Given the description of an element on the screen output the (x, y) to click on. 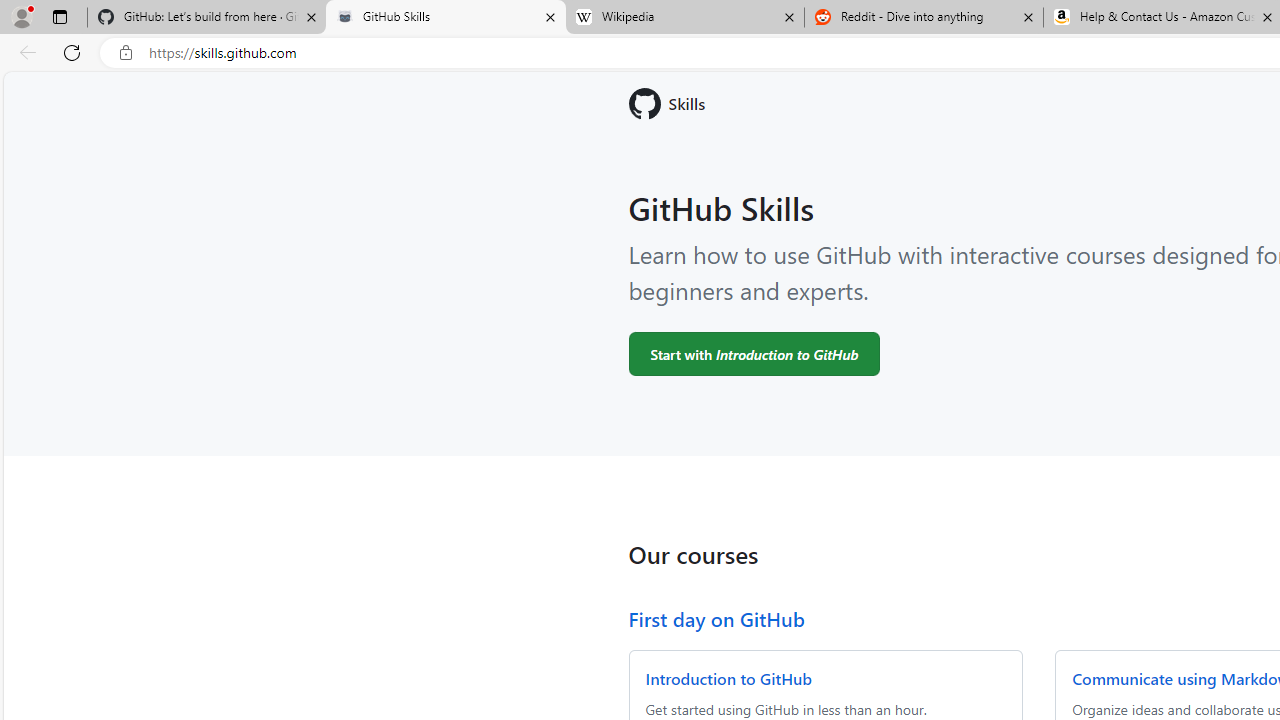
Wikipedia (684, 17)
GitHub Skills (445, 17)
First day on GitHub (716, 618)
Introduction to GitHub (728, 678)
Reddit - Dive into anything (924, 17)
Start with Introduction to GitHub (754, 353)
